Given the description of an element on the screen output the (x, y) to click on. 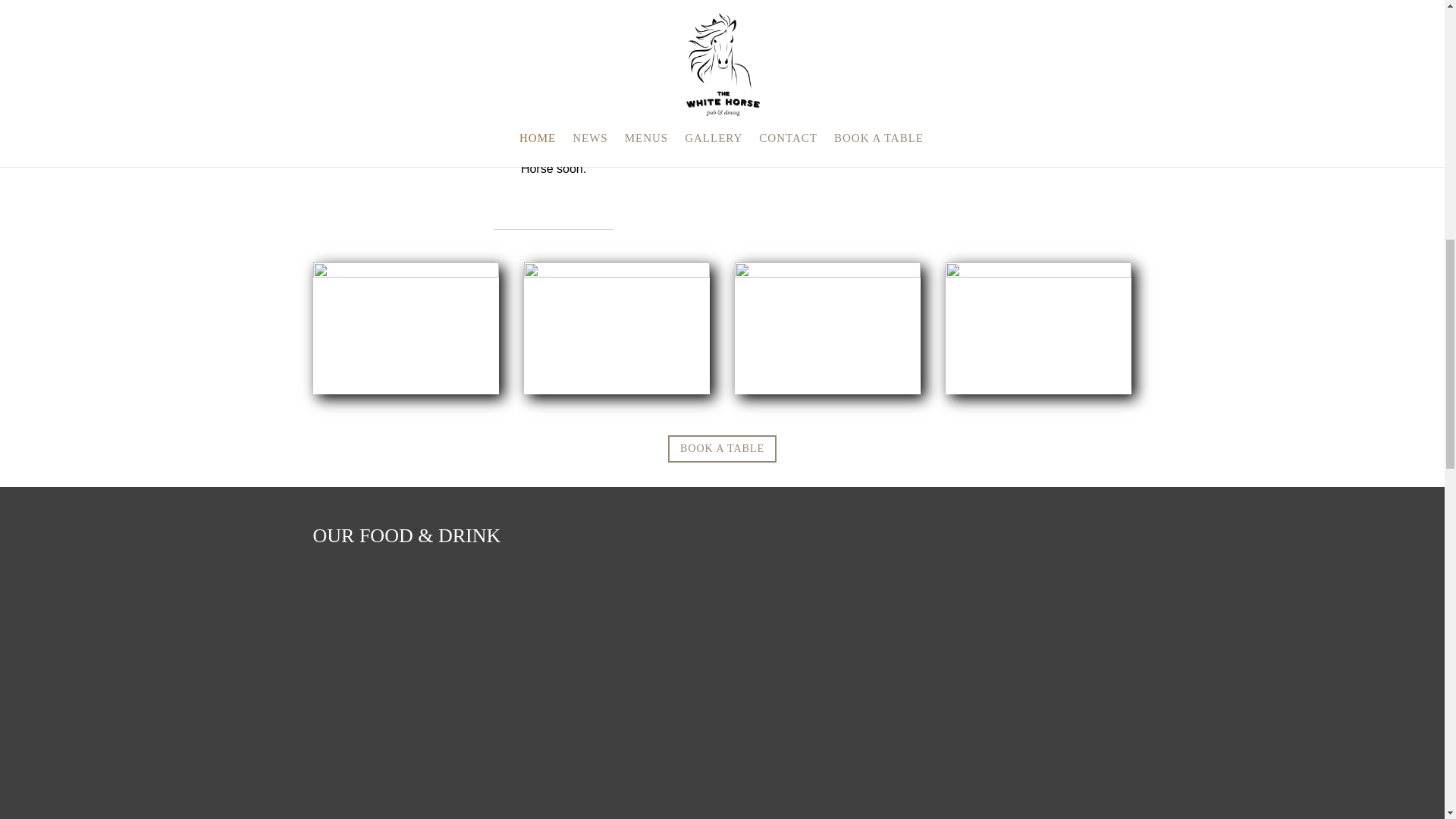
Sticky Toffee Pudding Close Up With Caramel Sauce (617, 273)
Untitled design - 2021-09-22T143856.676 (1038, 273)
BOOK A TABLE (722, 448)
